Given the description of an element on the screen output the (x, y) to click on. 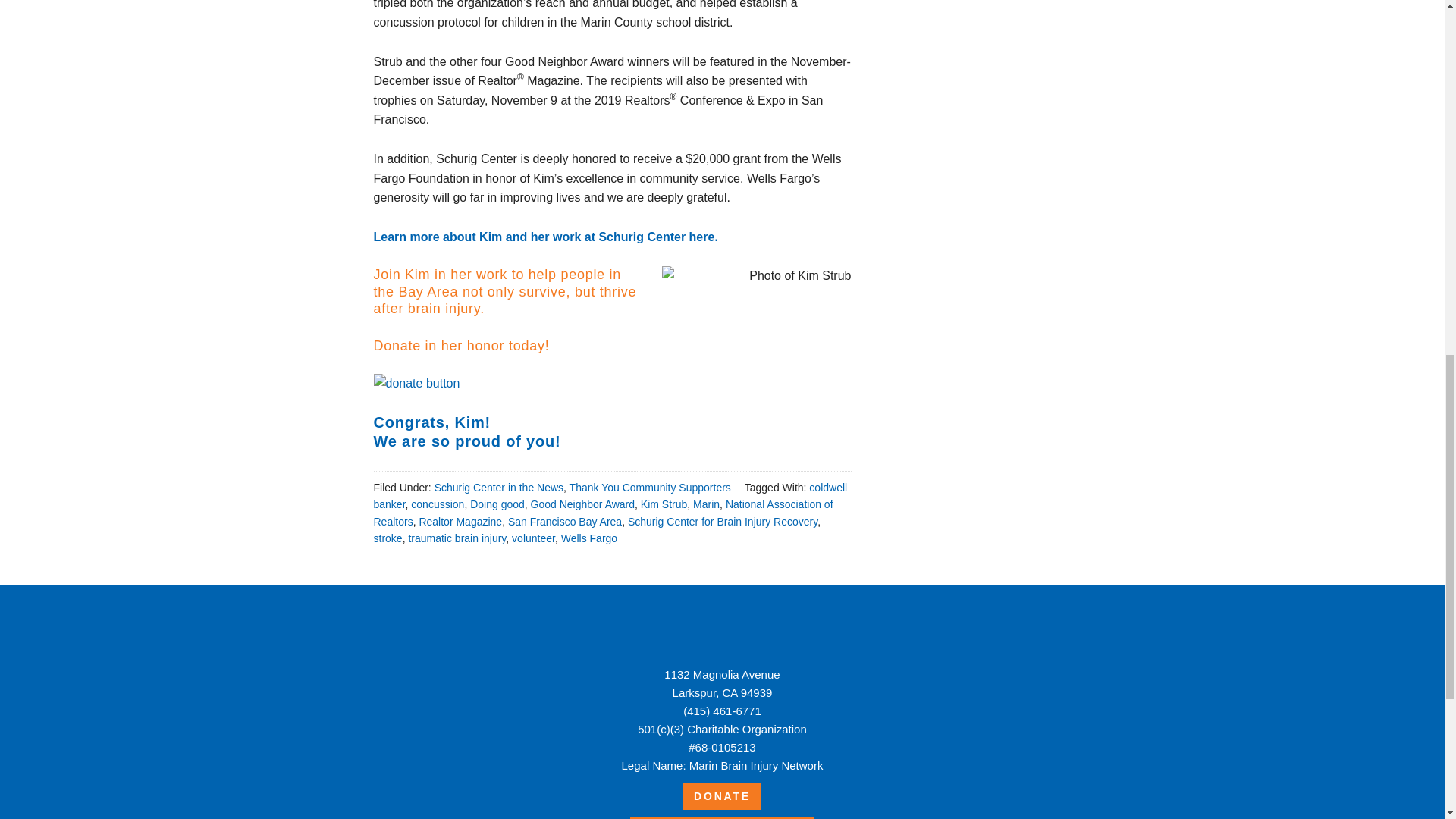
Learn more about Kim and her work at Schurig Center here. (544, 236)
Schurig Center in the News (498, 487)
Thank You Community Supporters (649, 487)
